Given the description of an element on the screen output the (x, y) to click on. 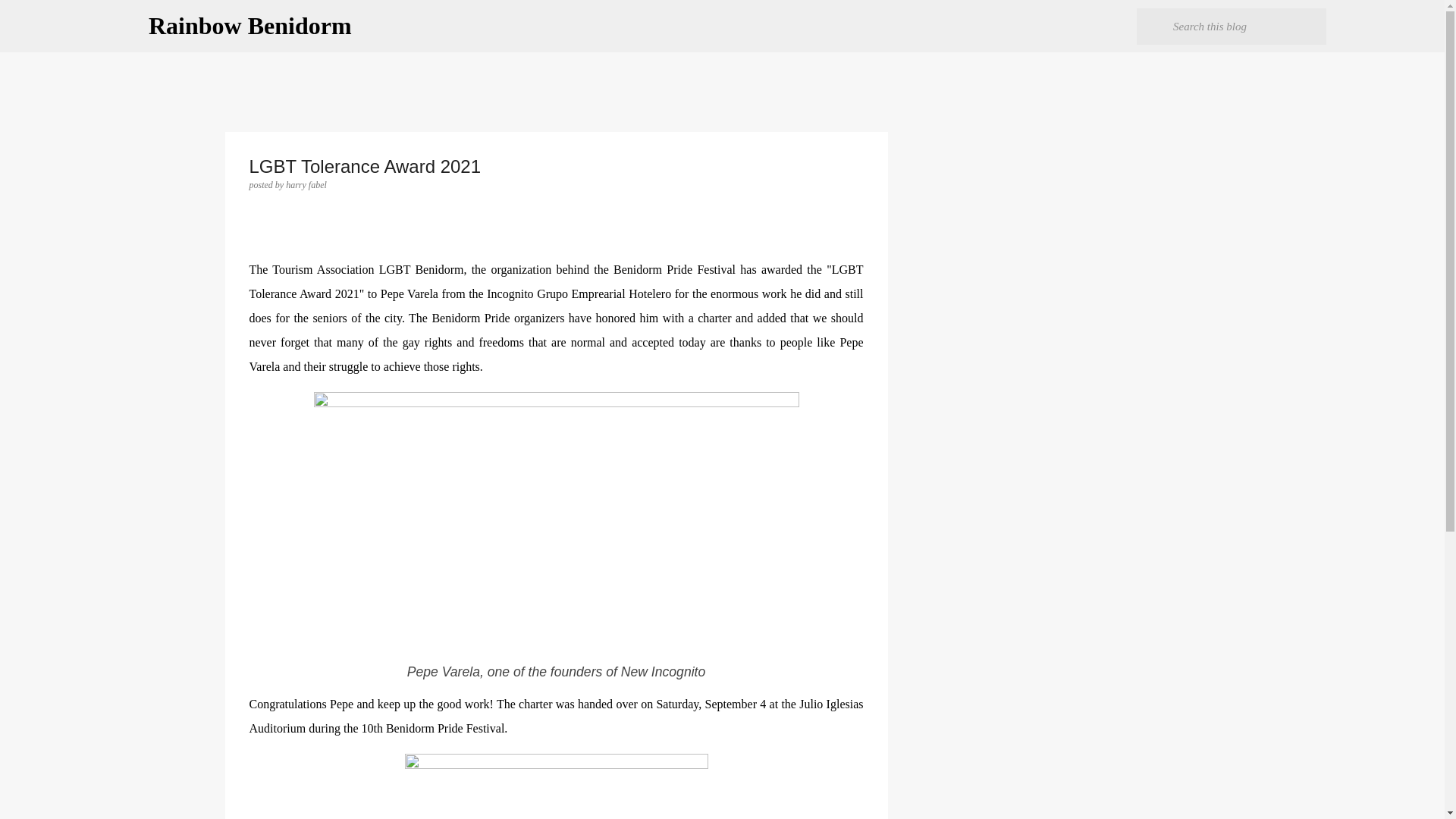
Rainbow Benidorm (250, 25)
